Given the description of an element on the screen output the (x, y) to click on. 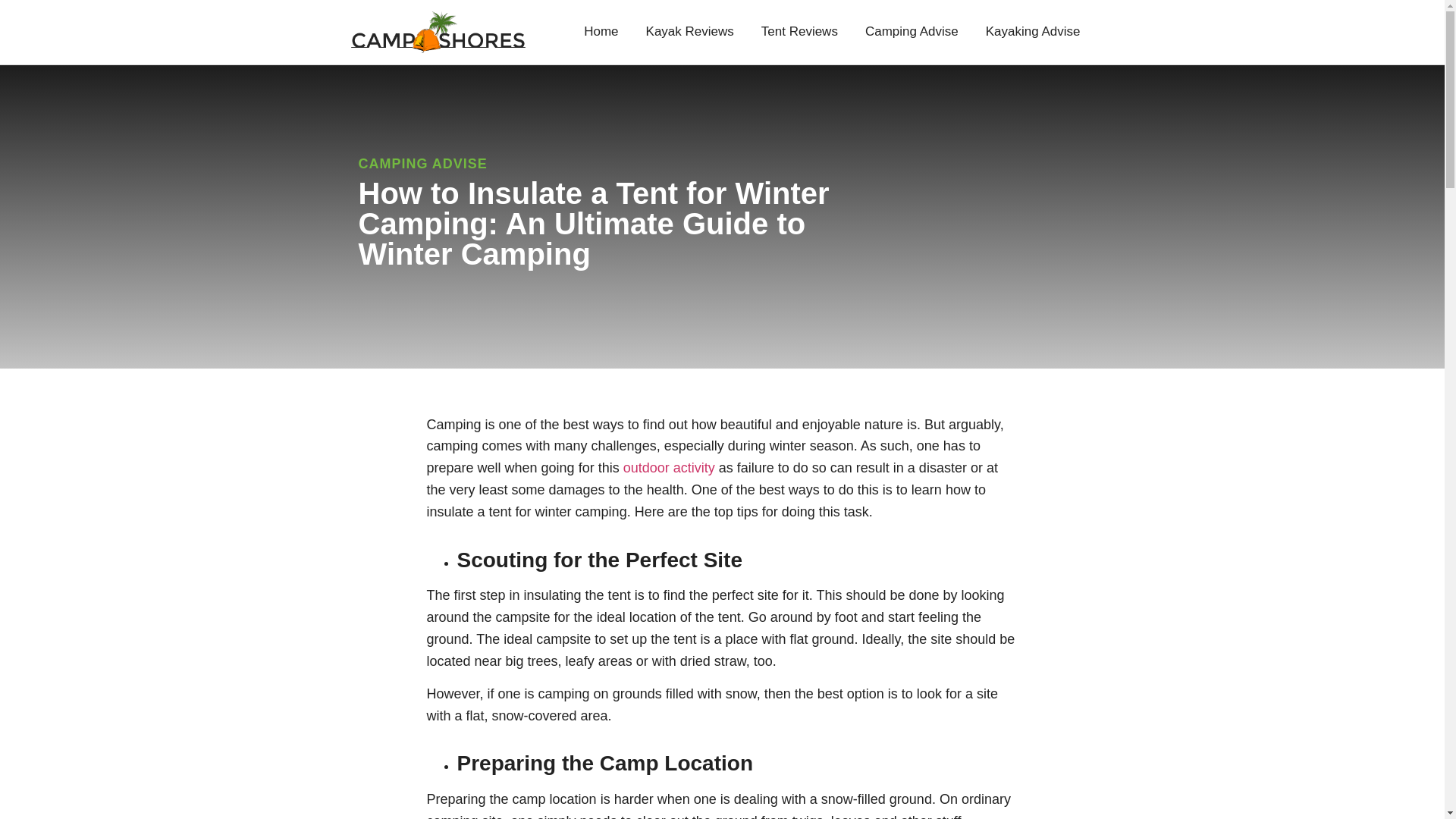
Kayaking Advise (1033, 31)
Home (600, 31)
Tent Reviews (799, 31)
CAMPING ADVISE (422, 163)
Camping Advise (911, 31)
outdoor activity (668, 467)
Kayak Reviews (689, 31)
